Given the description of an element on the screen output the (x, y) to click on. 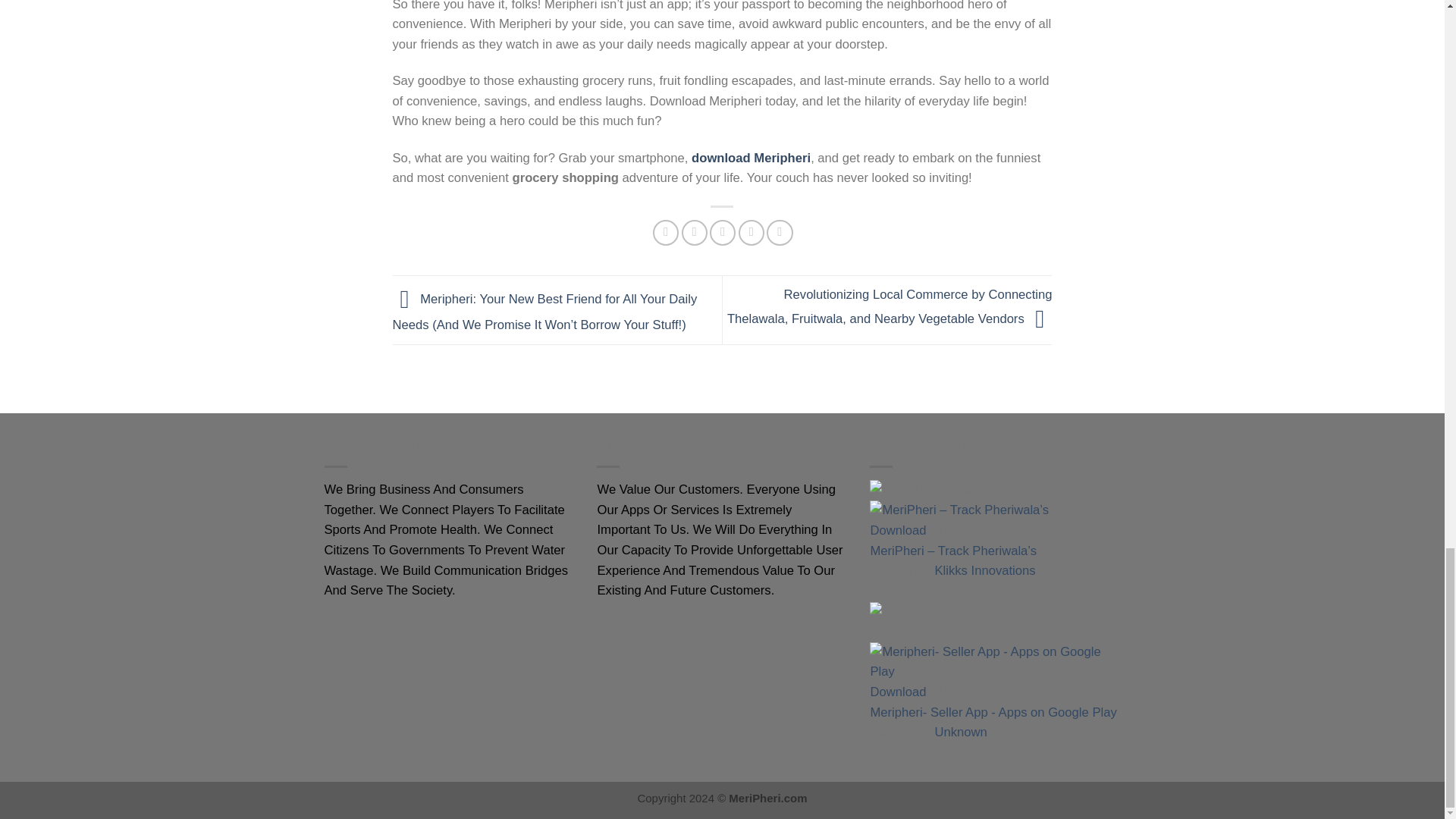
Share on Twitter (694, 232)
Share on Facebook (665, 232)
Meripheri- Seller App - Apps on Google Play (992, 712)
download Meripheri (750, 157)
Download (897, 691)
Download (897, 530)
Klikks Innovations (984, 570)
Meripheri- Seller App - Apps on Google Play (992, 712)
Pin on Pinterest (751, 232)
Email to a Friend (722, 232)
Share on LinkedIn (779, 232)
Unknown (960, 731)
